Given the description of an element on the screen output the (x, y) to click on. 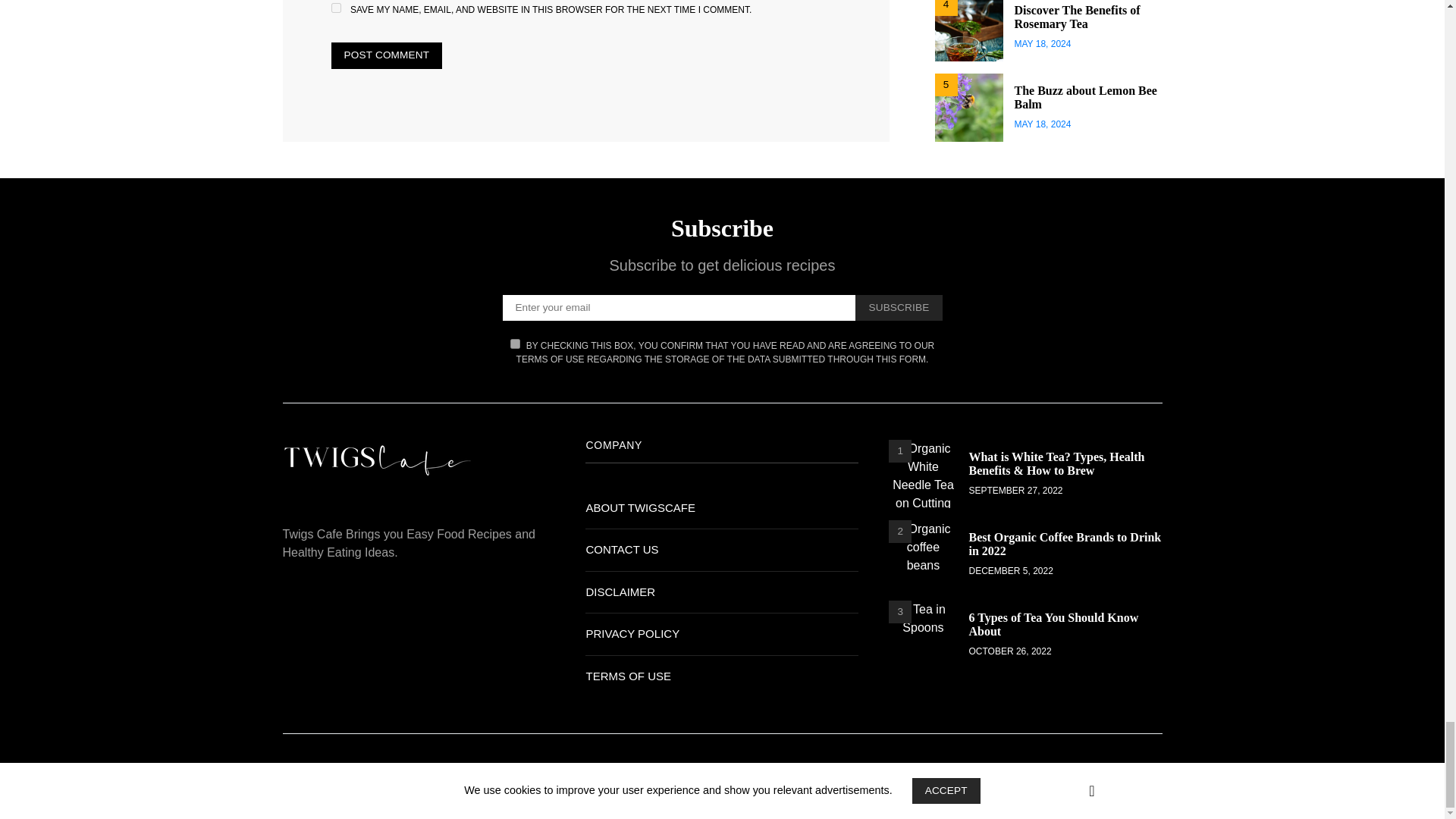
on (515, 343)
yes (335, 8)
Post Comment (386, 54)
